Given the description of an element on the screen output the (x, y) to click on. 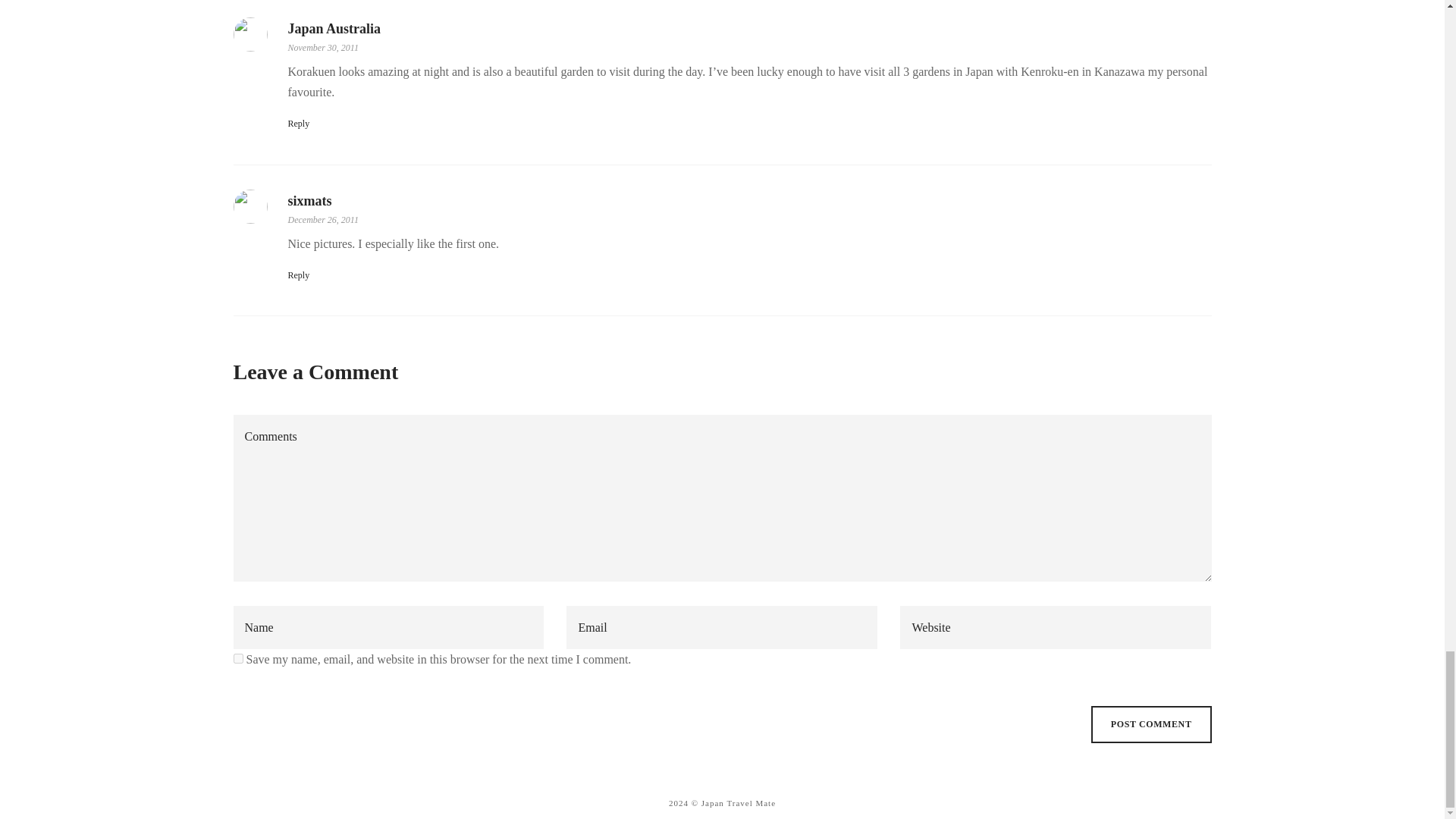
Post Comment (1150, 723)
yes (237, 658)
sixmats (309, 200)
Reply (299, 275)
Reply (299, 122)
Post Comment (1150, 723)
